Given the description of an element on the screen output the (x, y) to click on. 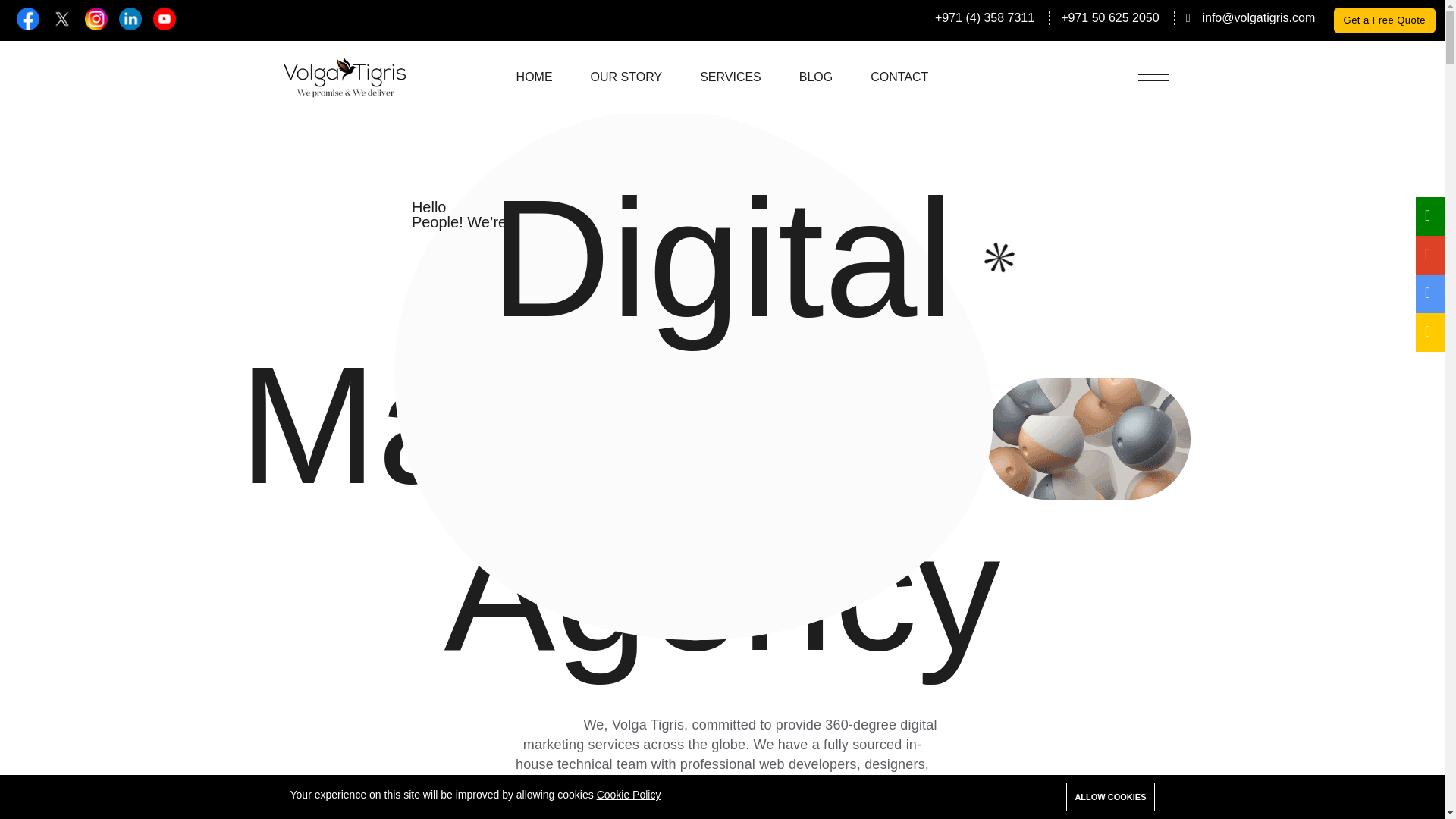
Facebook (27, 17)
Youtube (164, 17)
Instagram (95, 17)
OUR STORY (626, 76)
LinkedIn (130, 17)
Twitter (62, 17)
Get a Free Quote (1384, 20)
